Given the description of an element on the screen output the (x, y) to click on. 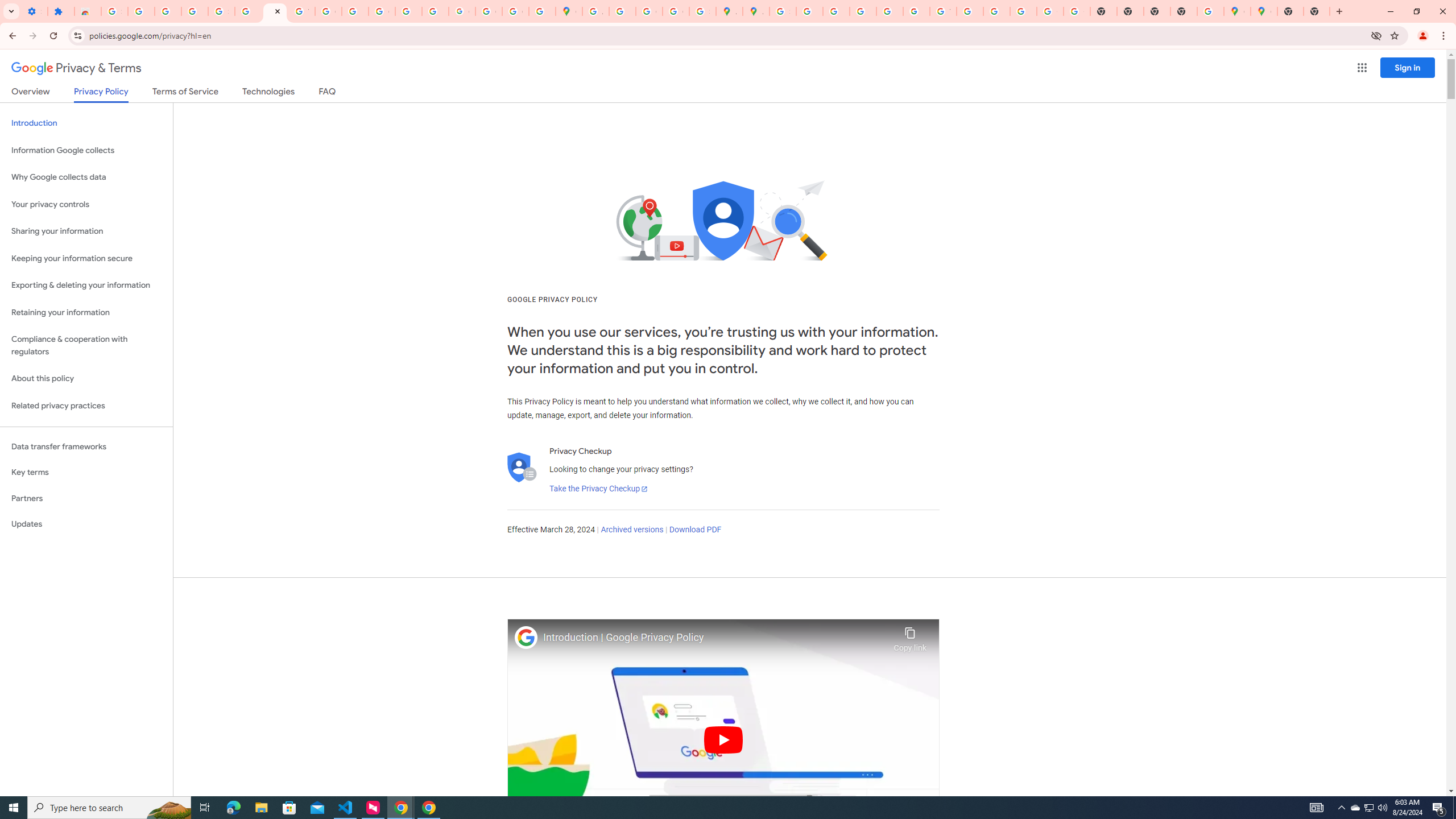
Privacy Help Center - Policies Help (862, 11)
Compliance & cooperation with regulators (86, 345)
Settings - On startup (34, 11)
Archived versions (631, 529)
Download PDF (695, 529)
Google Maps (1263, 11)
Learn how to find your photos - Google Photos Help (167, 11)
